Given the description of an element on the screen output the (x, y) to click on. 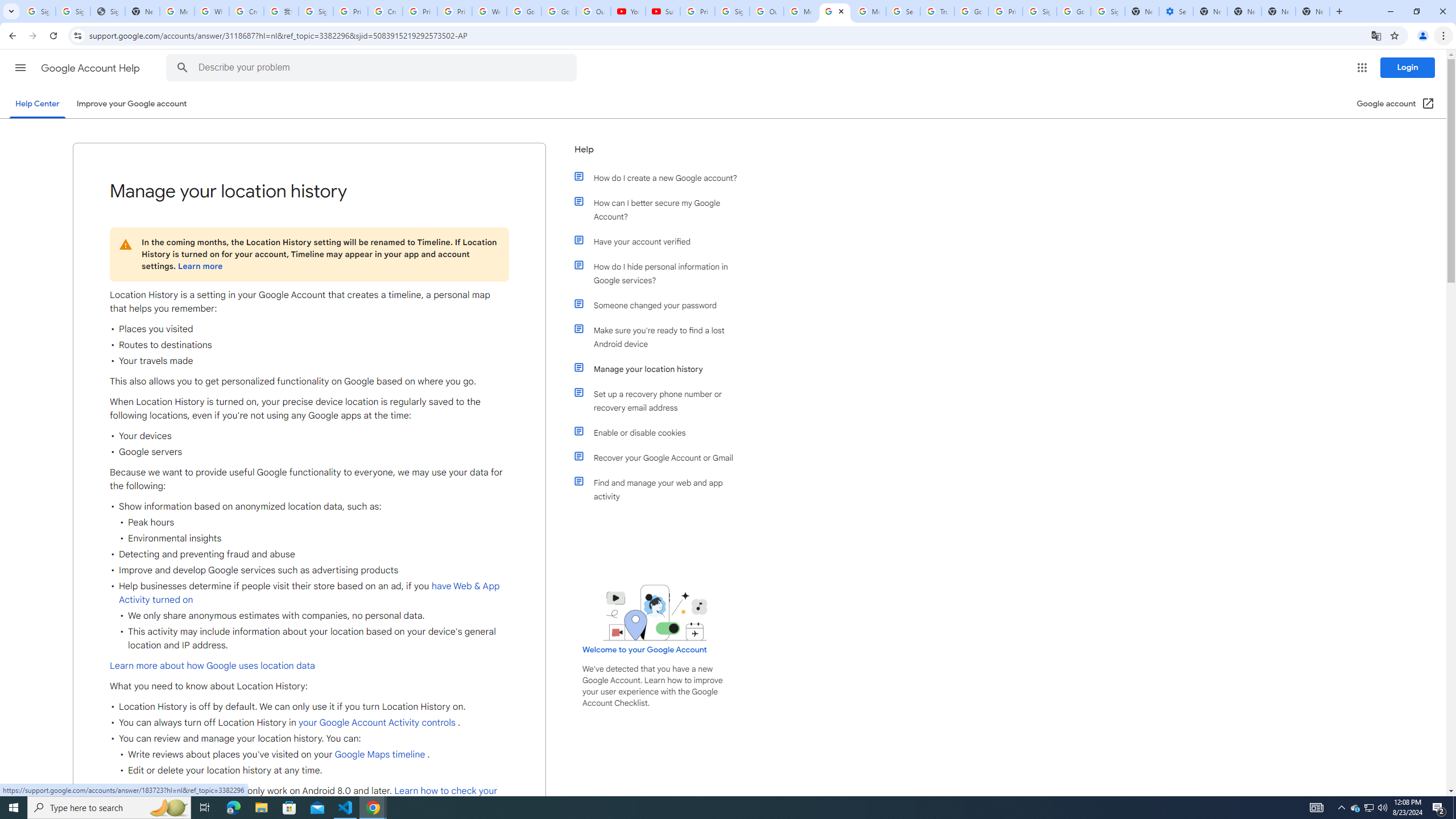
Welcome to your Google Account (644, 649)
New Tab (1312, 11)
Learning Center home page image (655, 612)
Google Cybersecurity Innovations - Google Safety Center (1073, 11)
